Given the description of an element on the screen output the (x, y) to click on. 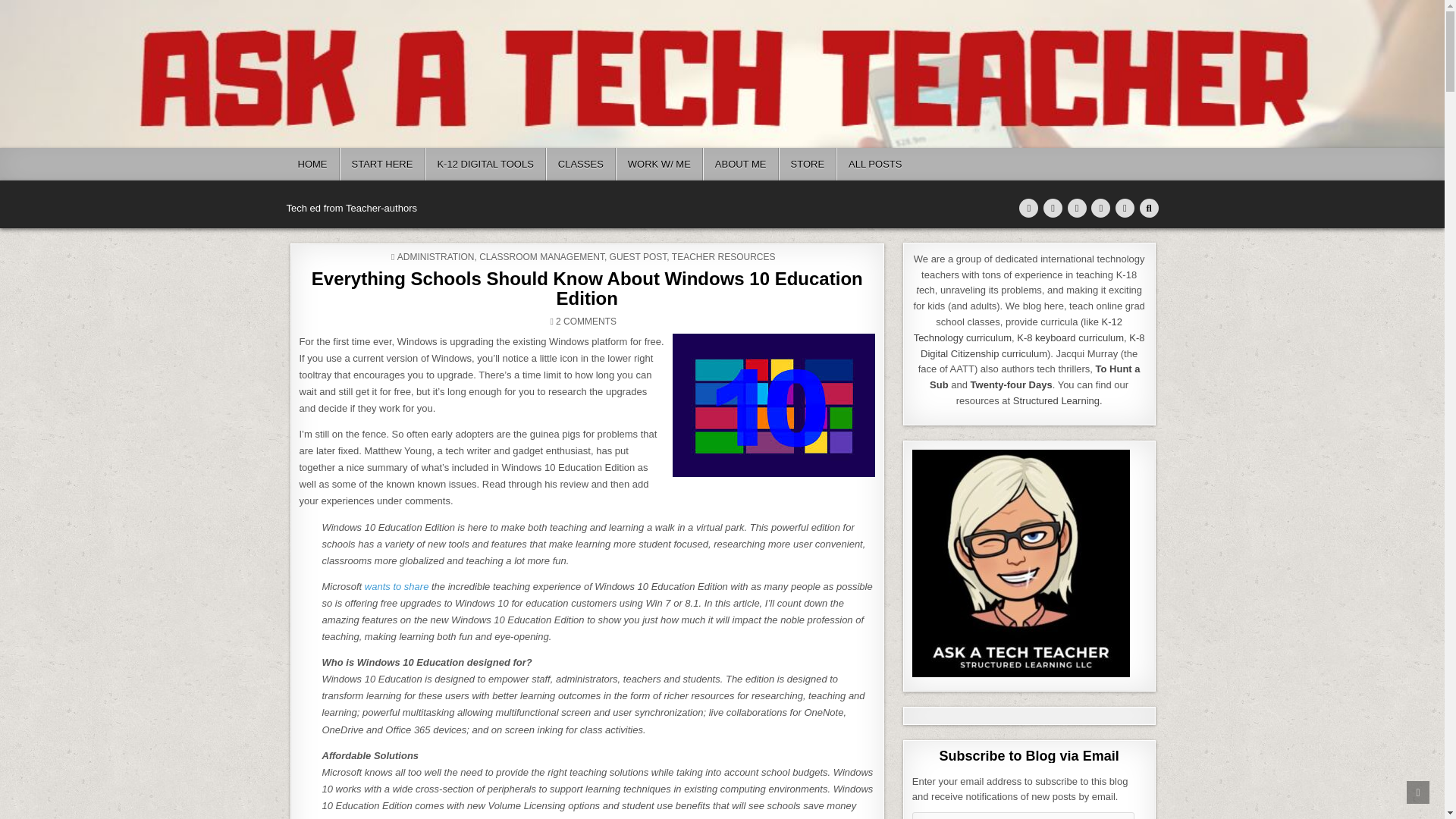
HOME (312, 164)
SCROLL TO TOP (1417, 792)
K-12 DIGITAL TOOLS (484, 164)
START HERE (382, 164)
